Given the description of an element on the screen output the (x, y) to click on. 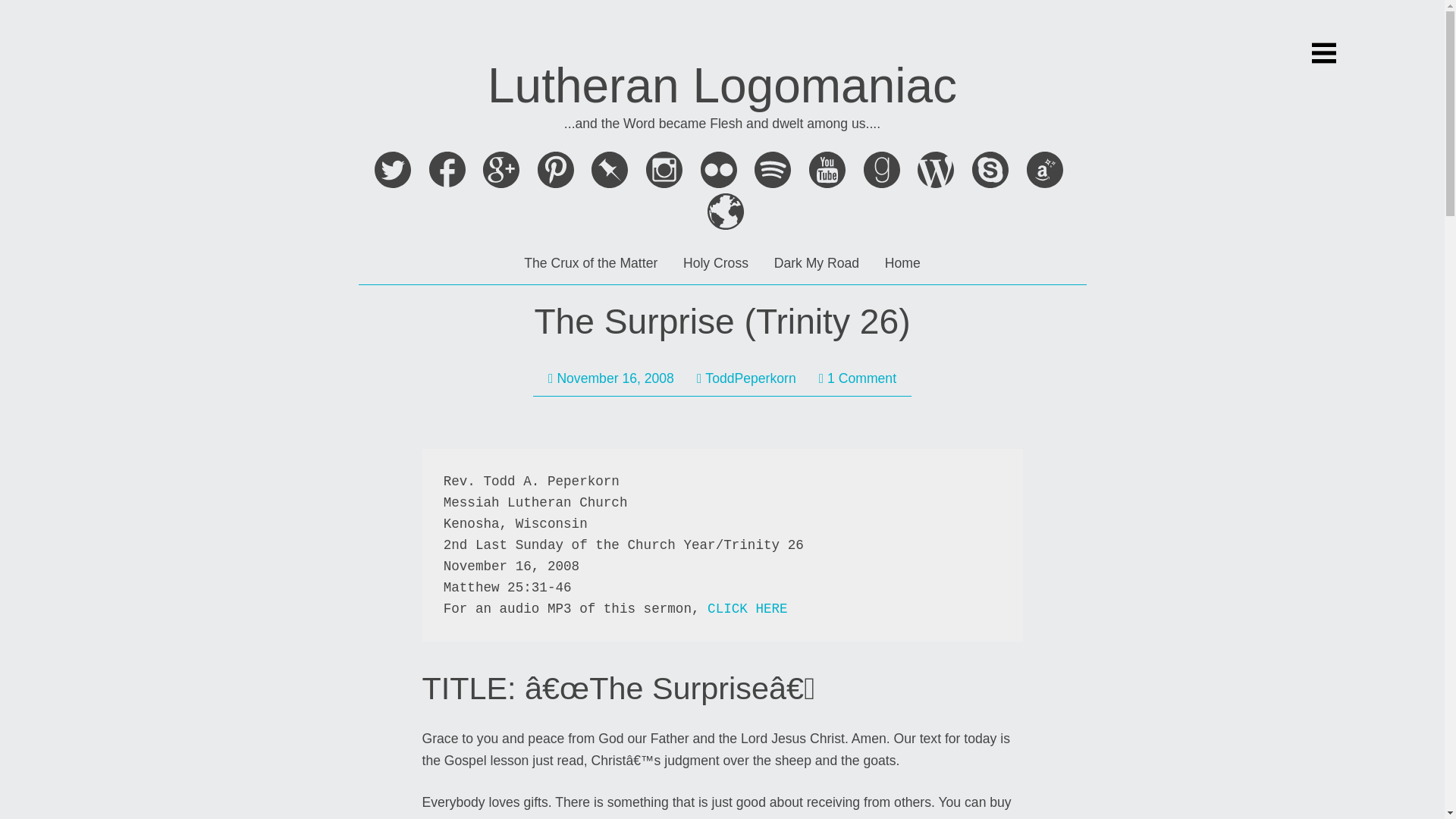
Dark My Road (816, 262)
1 Comment (857, 378)
Holy Cross (715, 262)
ToddPeperkorn (746, 378)
Lutheran Logomaniac (721, 85)
November 16, 2008 (611, 378)
CLICK HERE (747, 608)
Home (902, 262)
Lutheran Logomaniac (721, 85)
Show sidebar (1323, 52)
